Given the description of an element on the screen output the (x, y) to click on. 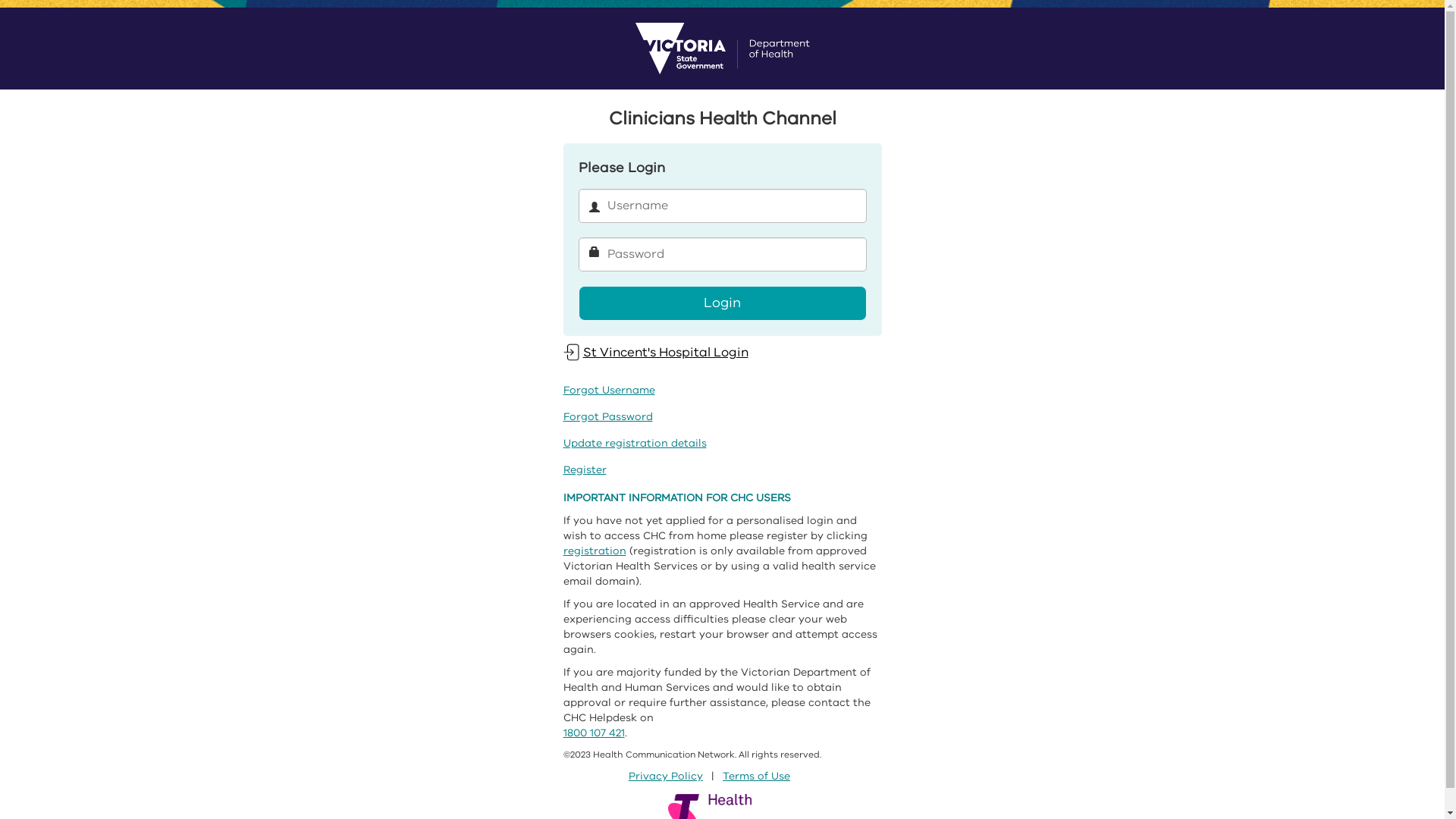
Forgot Password Element type: text (607, 416)
1800 107 421 Element type: text (593, 732)
Terms of Use Element type: text (756, 775)
Login Element type: text (721, 302)
Register Element type: text (583, 469)
registration Element type: text (593, 550)
Forgot Username Element type: text (608, 389)
Update registration details Element type: text (634, 443)
St Vincent's Hospital Login Element type: text (654, 351)
Privacy Policy Element type: text (665, 775)
